Given the description of an element on the screen output the (x, y) to click on. 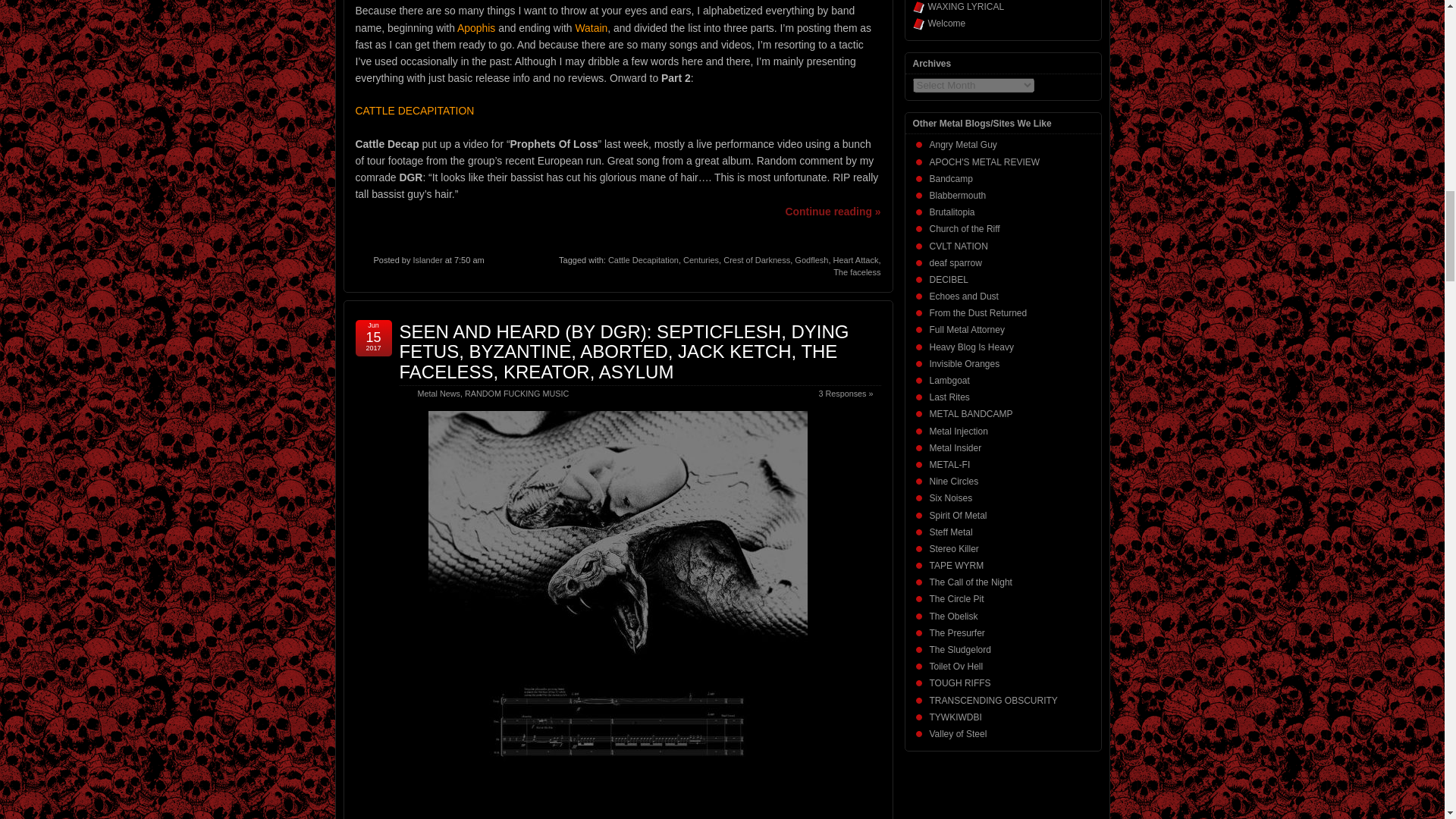
Cattle Decapitation (643, 259)
Metal News (438, 393)
Crest of Darkness (756, 259)
Heart Attack (855, 259)
Centuries (700, 259)
RANDOM FUCKING MUSIC (516, 393)
The faceless (856, 271)
Islander (427, 259)
Godflesh (811, 259)
